Given the description of an element on the screen output the (x, y) to click on. 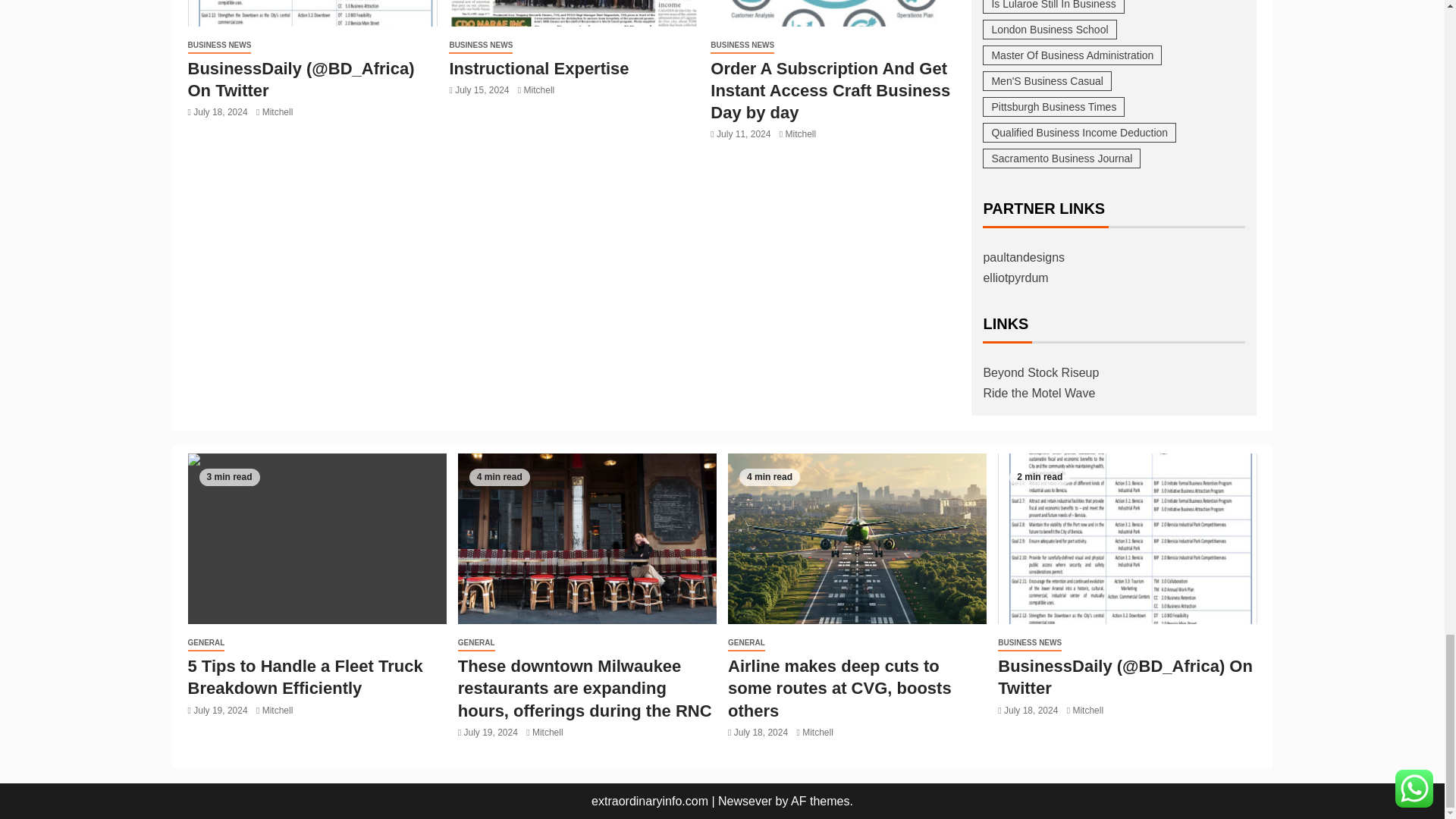
Instructional Expertise (573, 13)
